Given the description of an element on the screen output the (x, y) to click on. 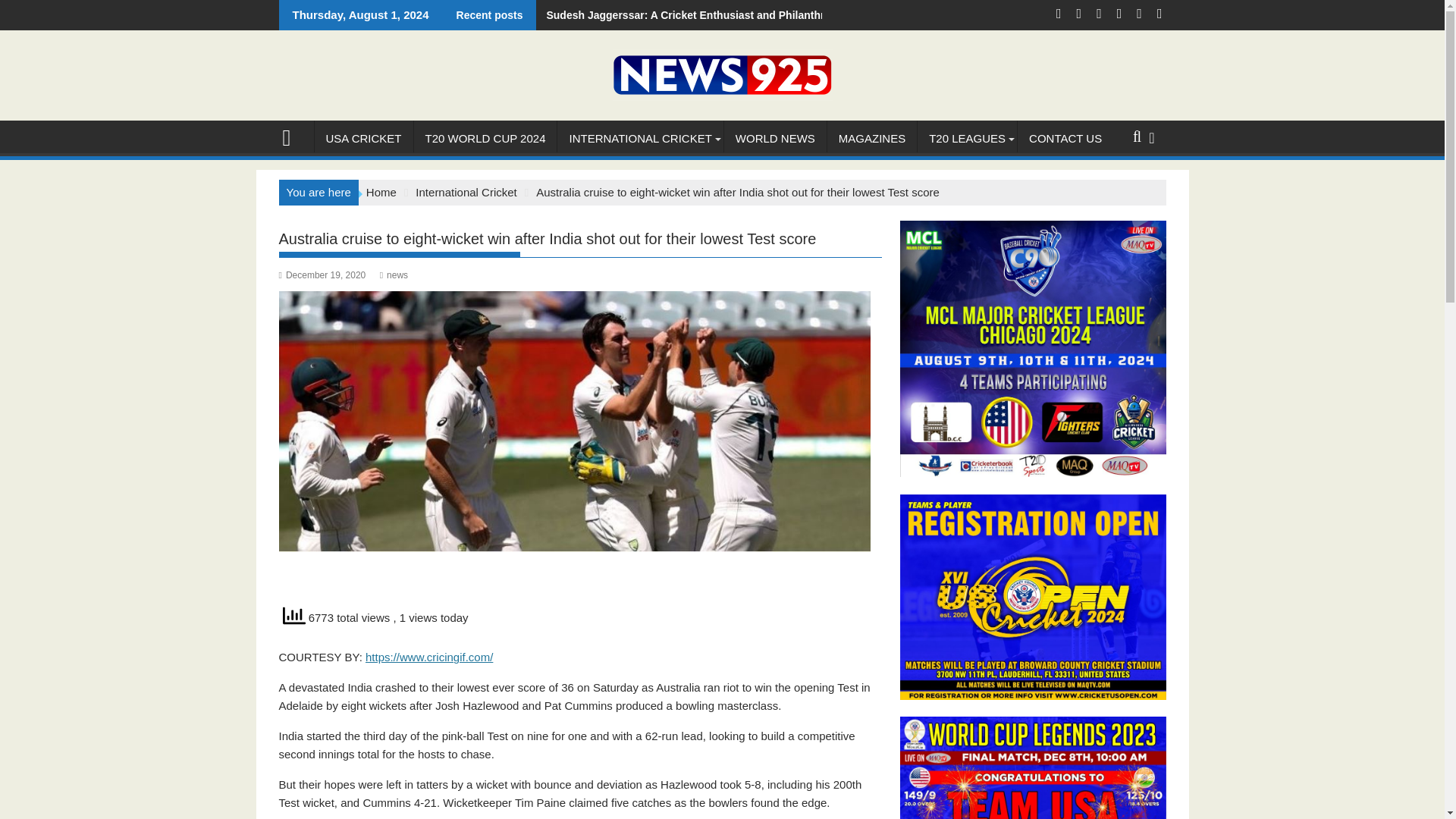
T20 LEAGUES (966, 138)
T20 WORLD CUP 2024 (485, 138)
CONTACT US (1065, 138)
MAGAZINES (872, 138)
USA CRICKET (363, 138)
WORLD NEWS (775, 138)
News925 (293, 136)
INTERNATIONAL CRICKET (639, 138)
